Given the description of an element on the screen output the (x, y) to click on. 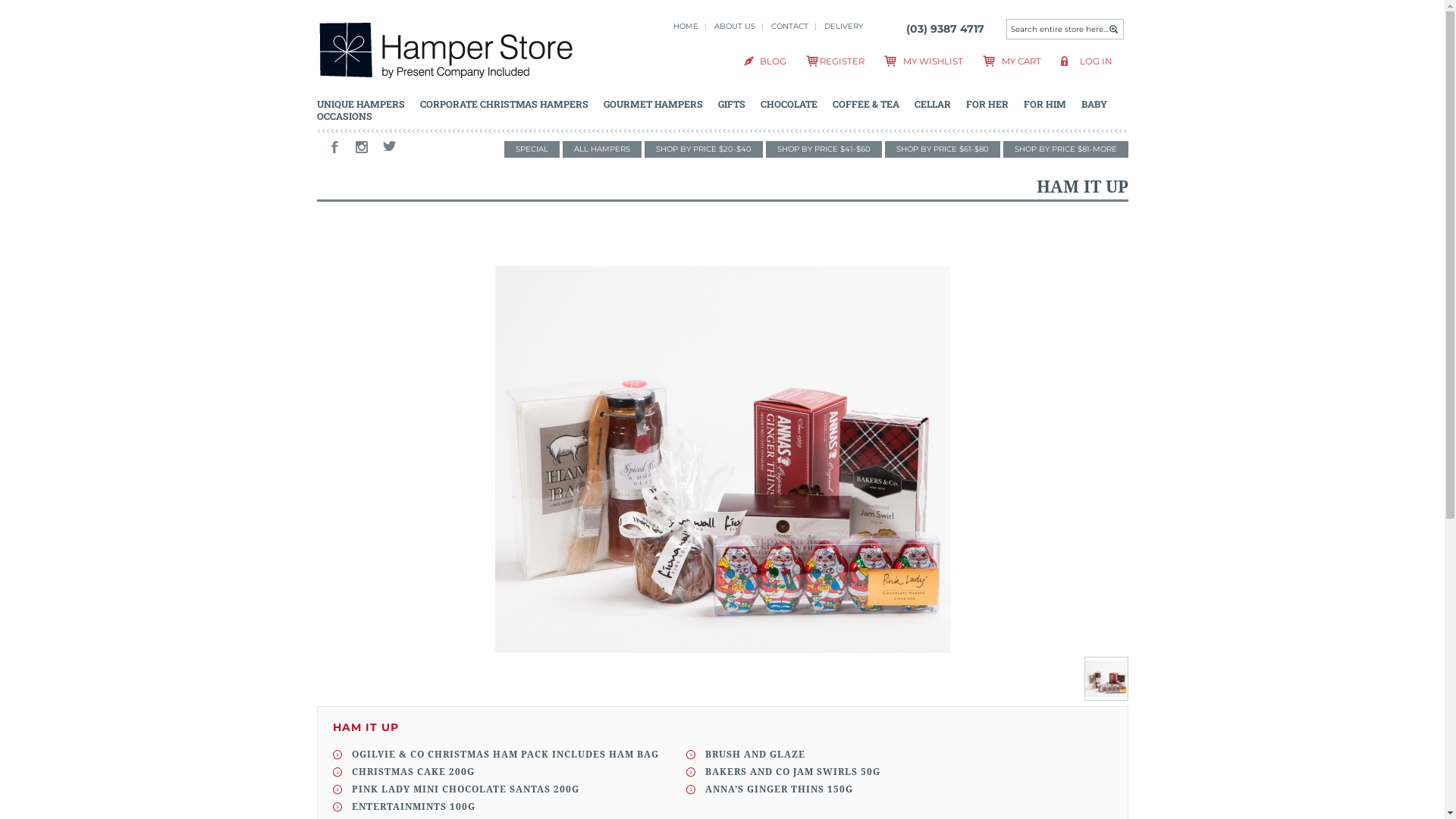
GIFTS Element type: text (730, 103)
(03) 9387 4717 Element type: text (944, 28)
UNIQUE HAMPERS Element type: text (360, 103)
OCCASIONS Element type: text (344, 115)
ALL HAMPERS Element type: text (601, 149)
MY WISHLIST Element type: text (932, 61)
Ham It Up Element type: hover (721, 459)
MY CART Element type: text (1020, 61)
SHOP BY PRICE $61-$80 Element type: text (941, 149)
ABOUT US Element type: text (734, 26)
Ham It Up Element type: hover (1106, 678)
CHOCOLATE Element type: text (787, 103)
SHOP BY PRICE $20-$40 Element type: text (703, 149)
BLOG Element type: text (772, 61)
FOR HIM Element type: text (1044, 103)
SPECIAL Element type: text (530, 149)
REGISTER Element type: text (841, 61)
SHOP BY PRICE $41-$60 Element type: text (823, 149)
DELIVERY Element type: text (842, 26)
Ham It Up Element type: hover (1106, 696)
CONTACT Element type: text (788, 26)
FOR HER Element type: text (987, 103)
LOG IN Element type: text (1095, 61)
GOURMET HAMPERS Element type: text (652, 103)
COFFEE & TEA Element type: text (865, 103)
HOME Element type: text (685, 26)
CORPORATE CHRISTMAS HAMPERS Element type: text (504, 103)
BABY Element type: text (1094, 103)
Hamper Store Element type: hover (445, 52)
CELLAR Element type: text (932, 103)
SHOP BY PRICE $81-MORE Element type: text (1064, 149)
